Given the description of an element on the screen output the (x, y) to click on. 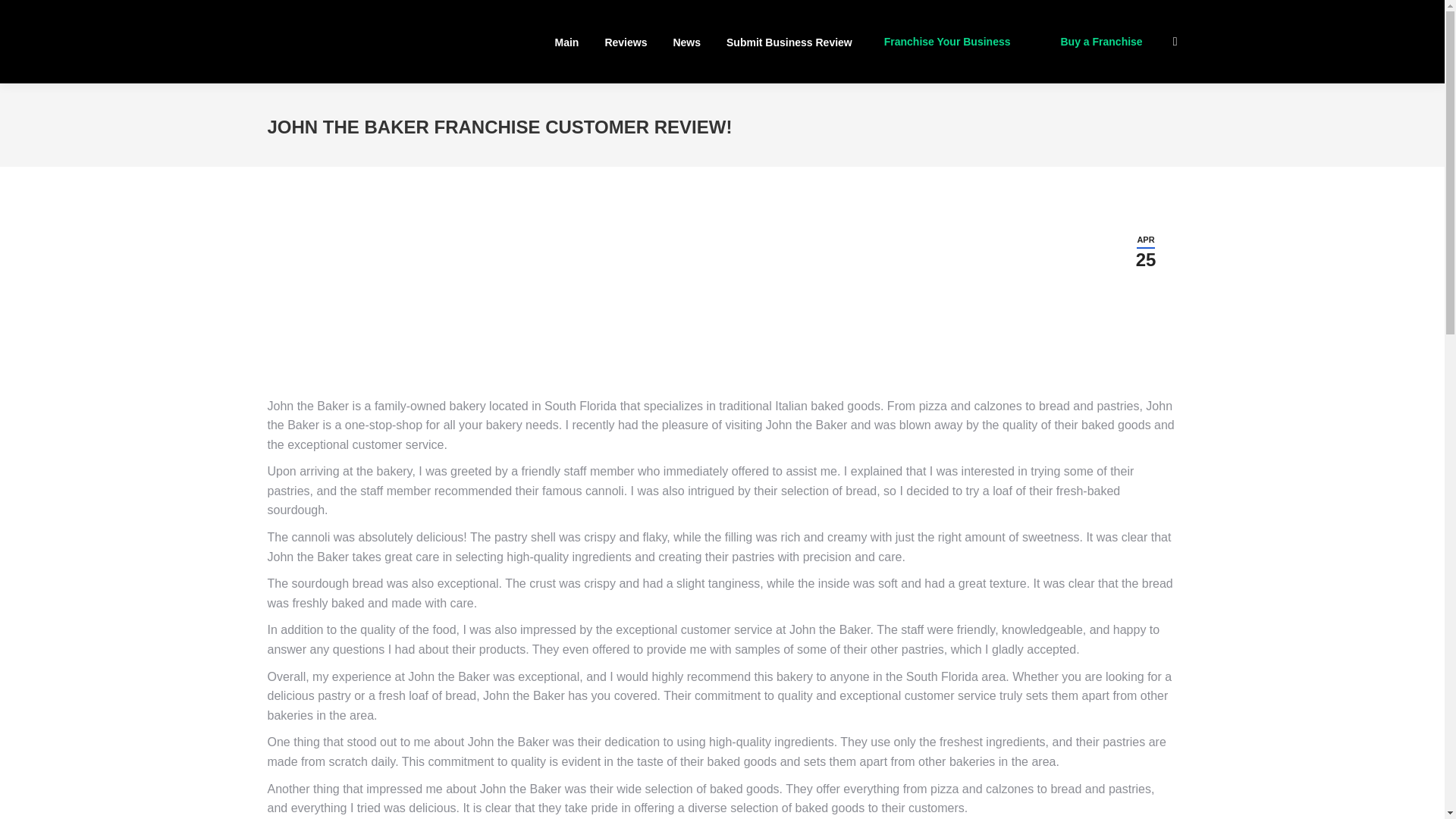
Post Comment (50, 14)
Submit Business Review (1146, 251)
News (789, 41)
4:05 pm (686, 41)
Main (1146, 251)
Reviews (567, 41)
Buy a Franchise (625, 41)
Go! (1101, 41)
Franchise Your Business (22, 14)
